Given the description of an element on the screen output the (x, y) to click on. 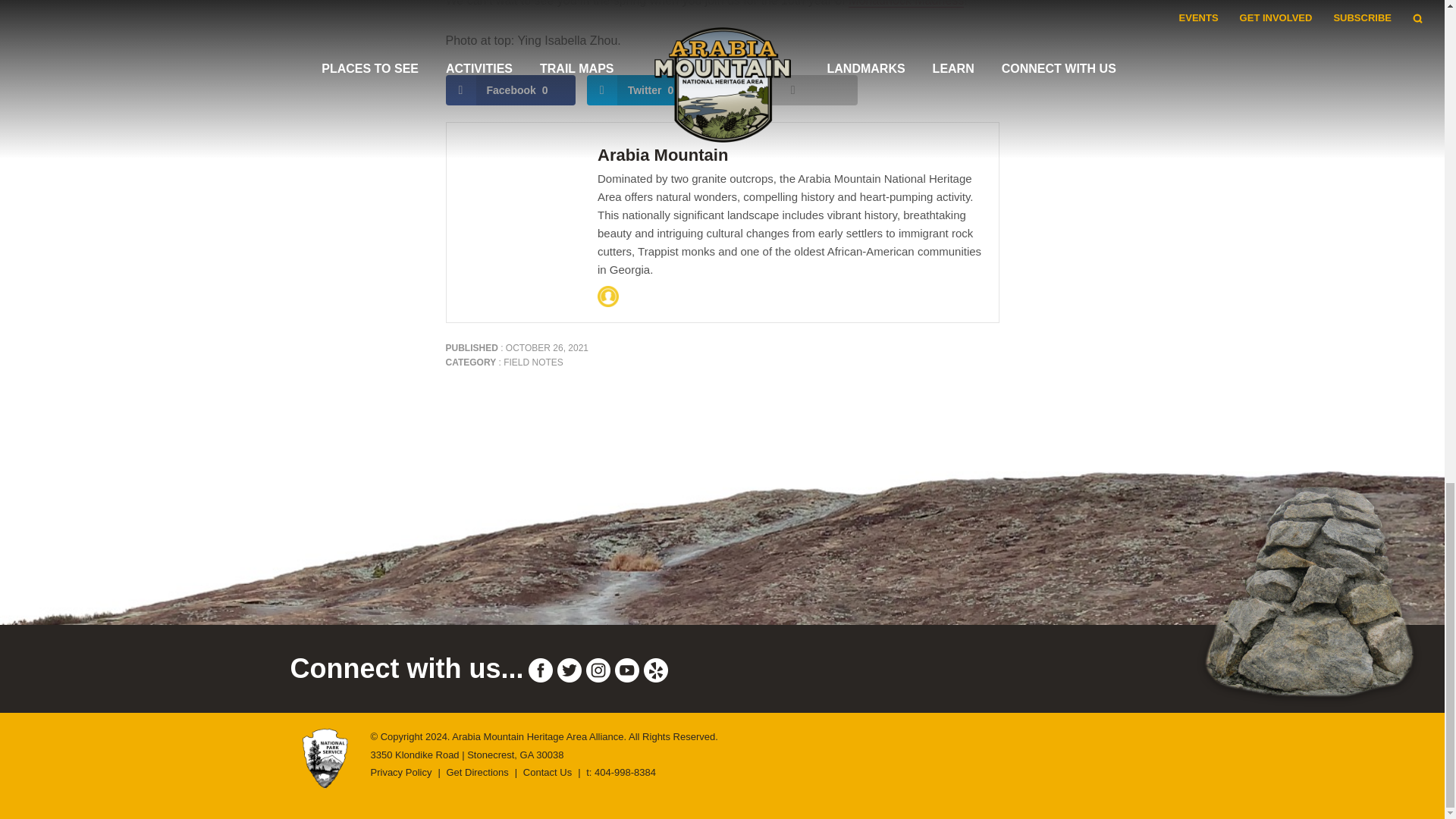
NPS (324, 779)
